Given the description of an element on the screen output the (x, y) to click on. 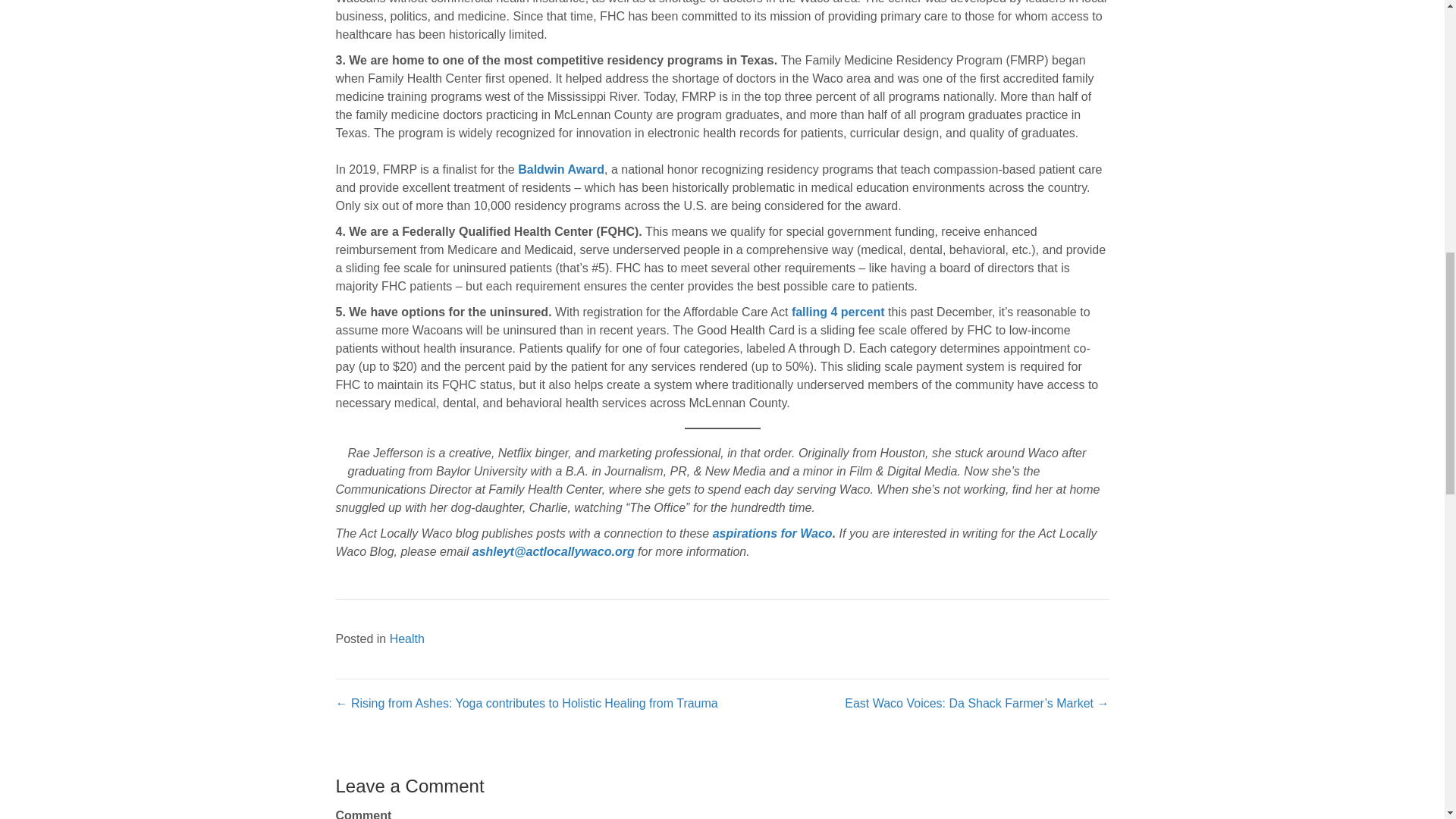
Health (407, 588)
falling 4 percent (838, 261)
Baldwin Award (561, 119)
aspirations for Waco (772, 482)
